Given the description of an element on the screen output the (x, y) to click on. 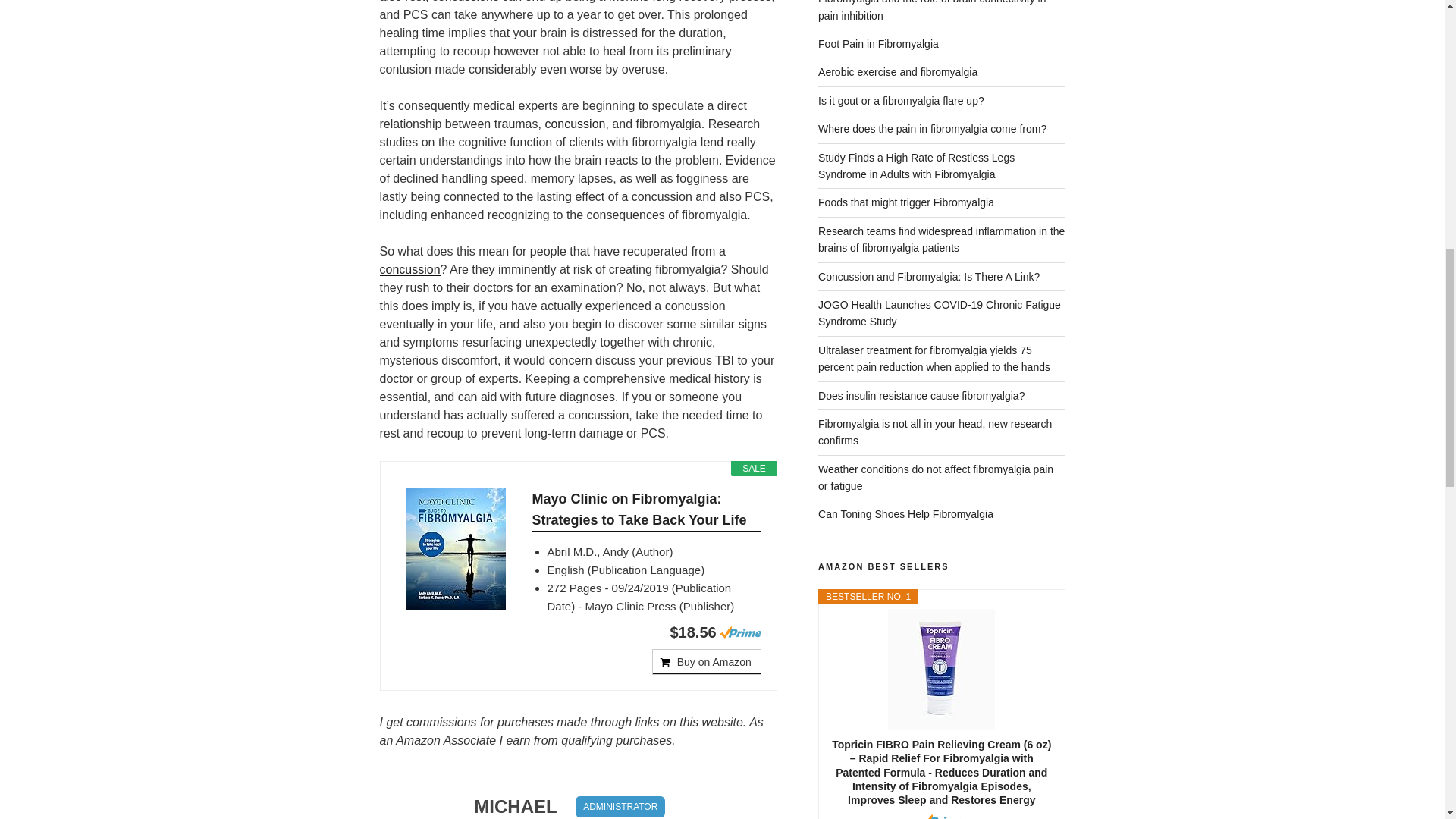
MICHAEL (515, 806)
Amazon Prime (740, 632)
concussion (574, 123)
Amazon Prime (941, 816)
Buy on Amazon (706, 661)
Foot Pain in Fibromyalgia (878, 43)
